Given the description of an element on the screen output the (x, y) to click on. 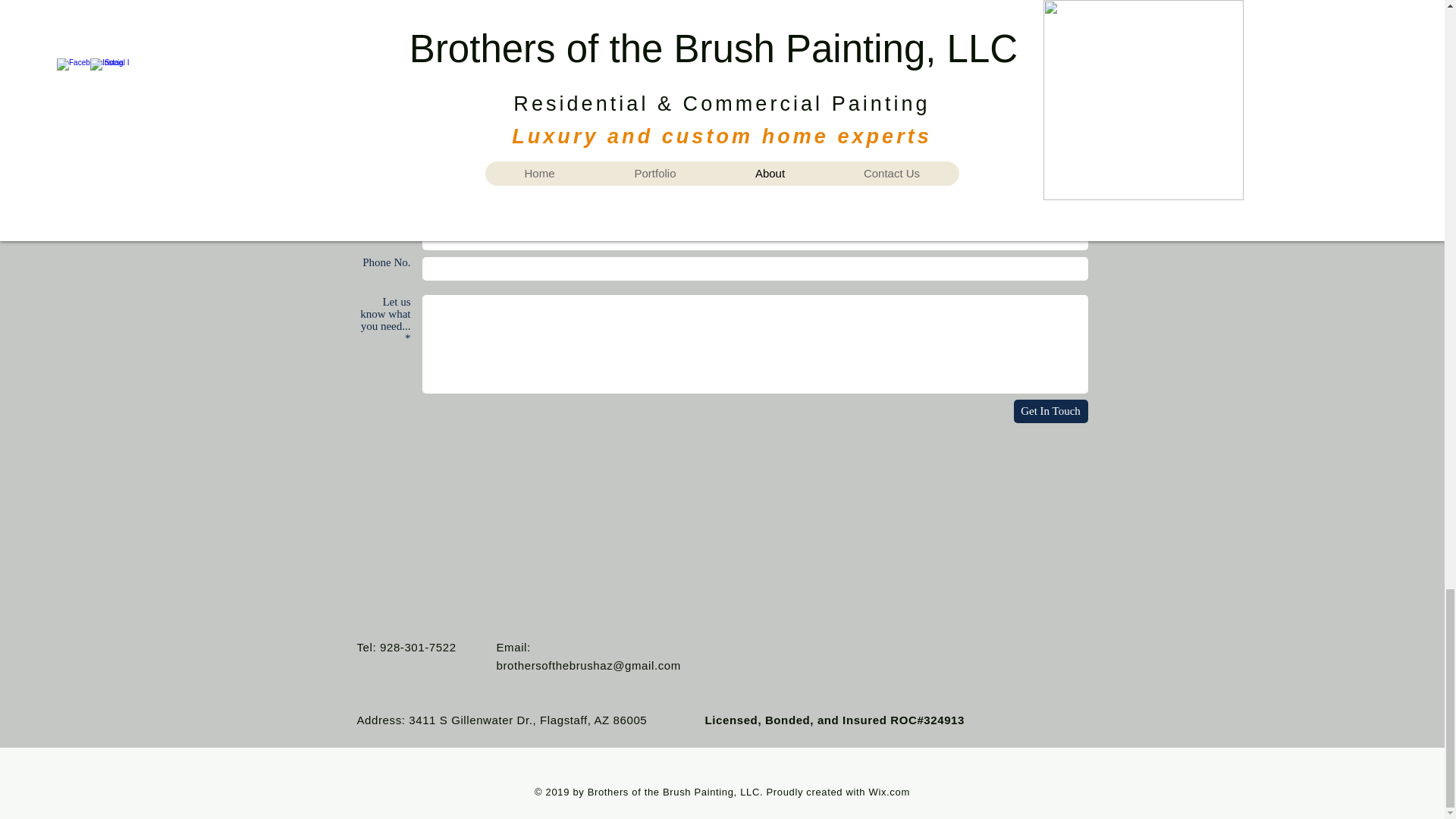
Get In Touch (1050, 411)
Wix.com (889, 791)
